Given the description of an element on the screen output the (x, y) to click on. 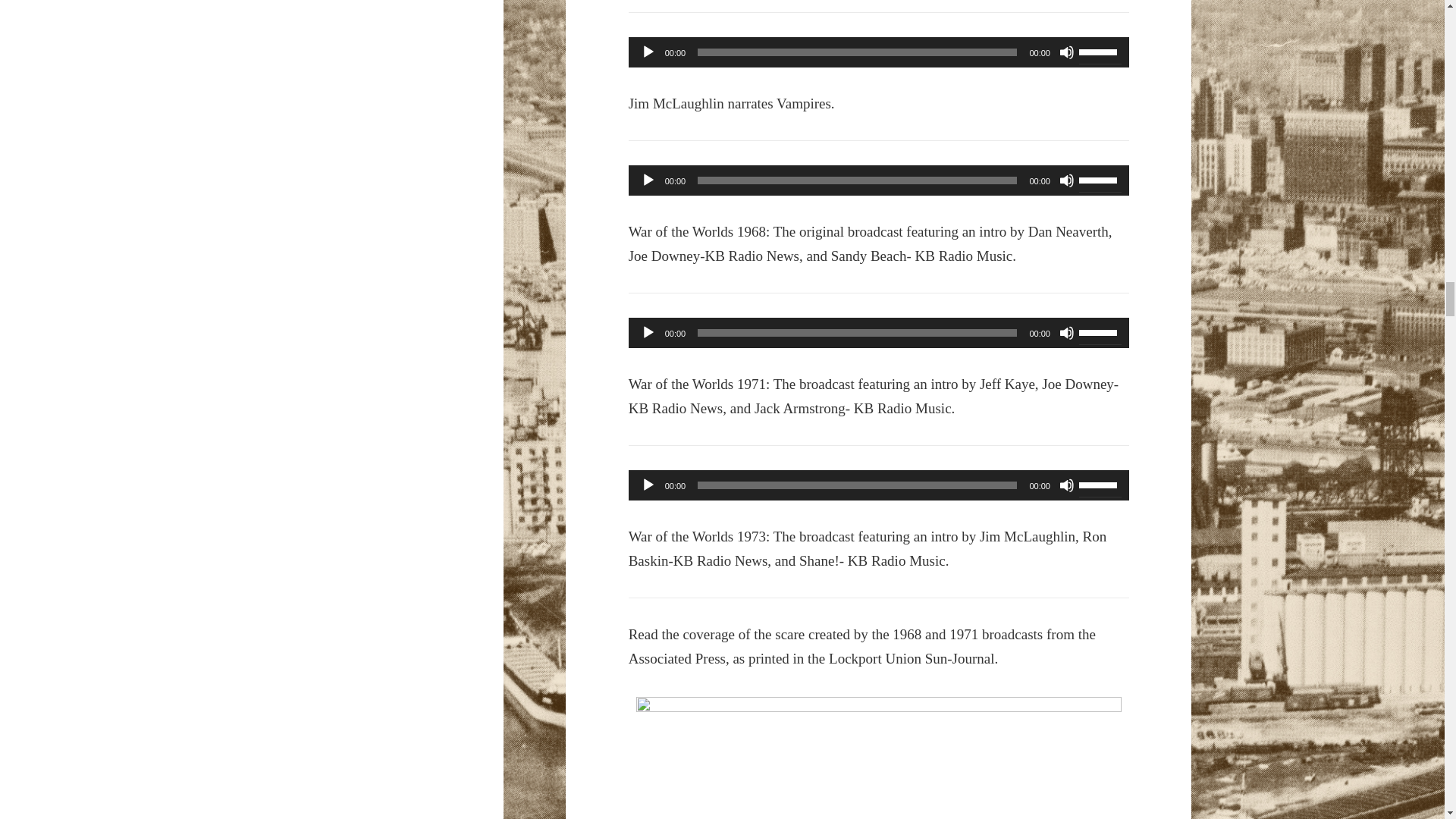
Mute (1066, 180)
Mute (1066, 52)
Play (648, 52)
Play (648, 180)
